Given the description of an element on the screen output the (x, y) to click on. 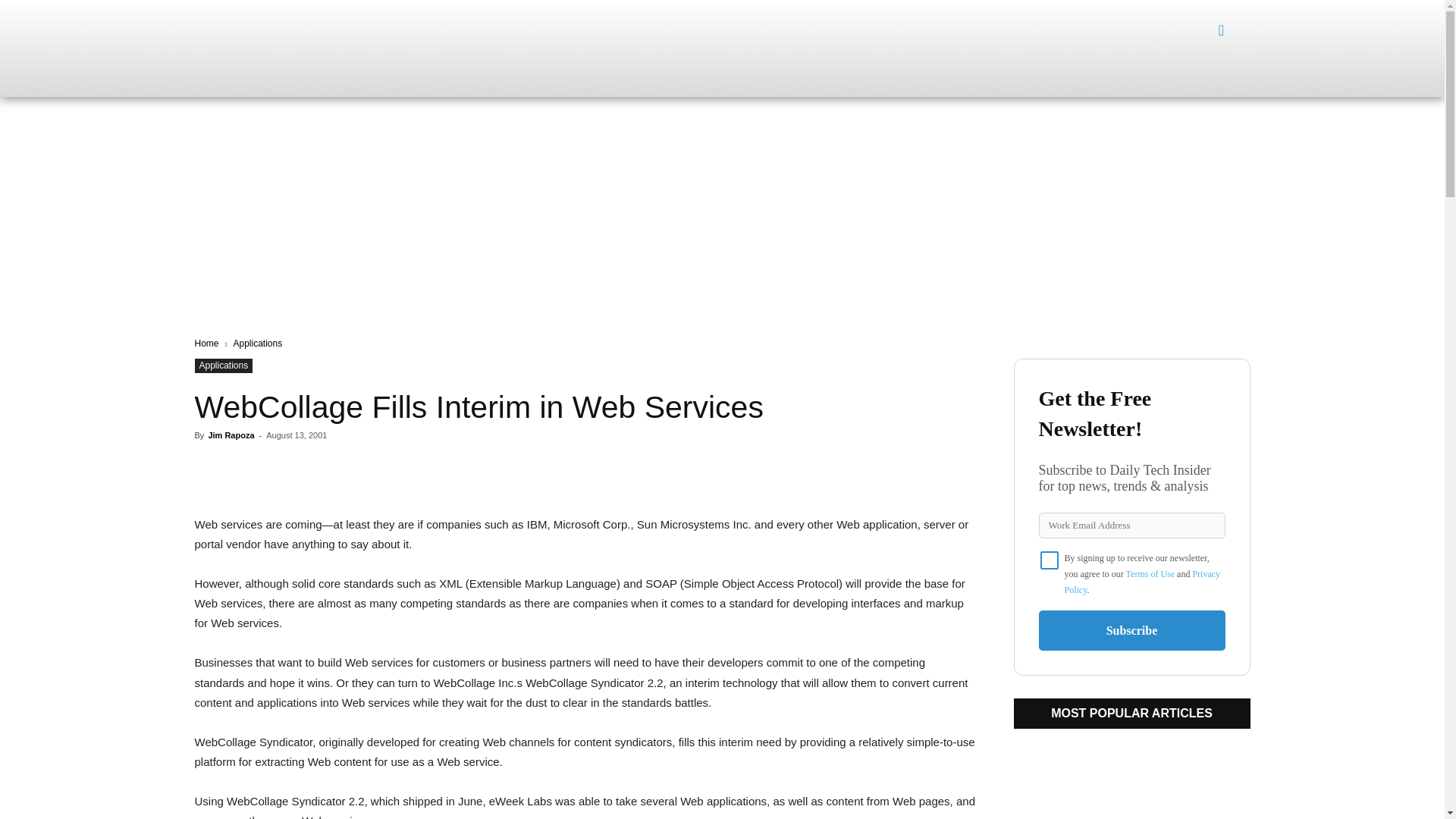
on (1049, 560)
